Given the description of an element on the screen output the (x, y) to click on. 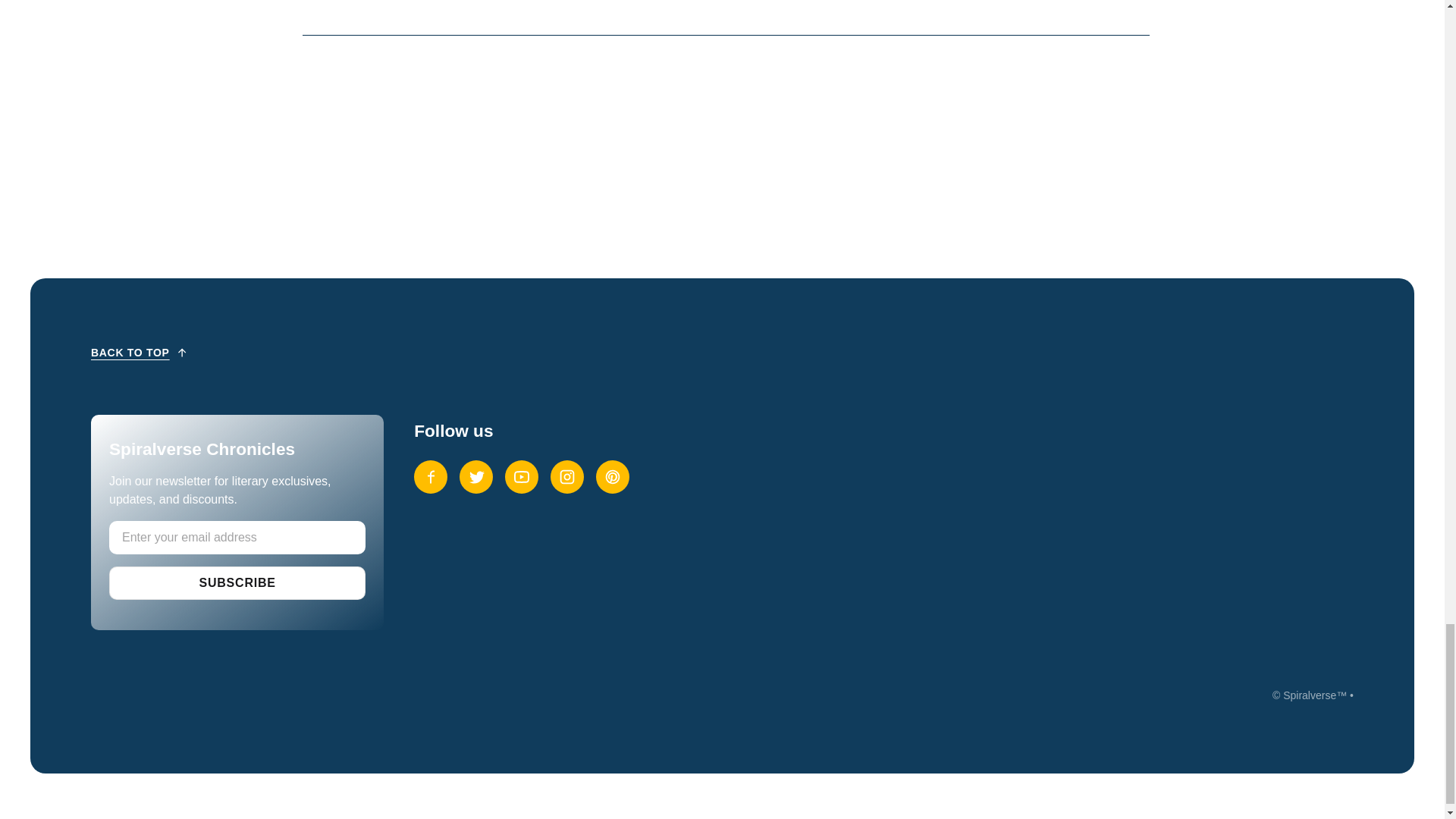
Twitter (476, 476)
Pinterest (611, 476)
Youtube (521, 476)
Instagram (566, 476)
